Given the description of an element on the screen output the (x, y) to click on. 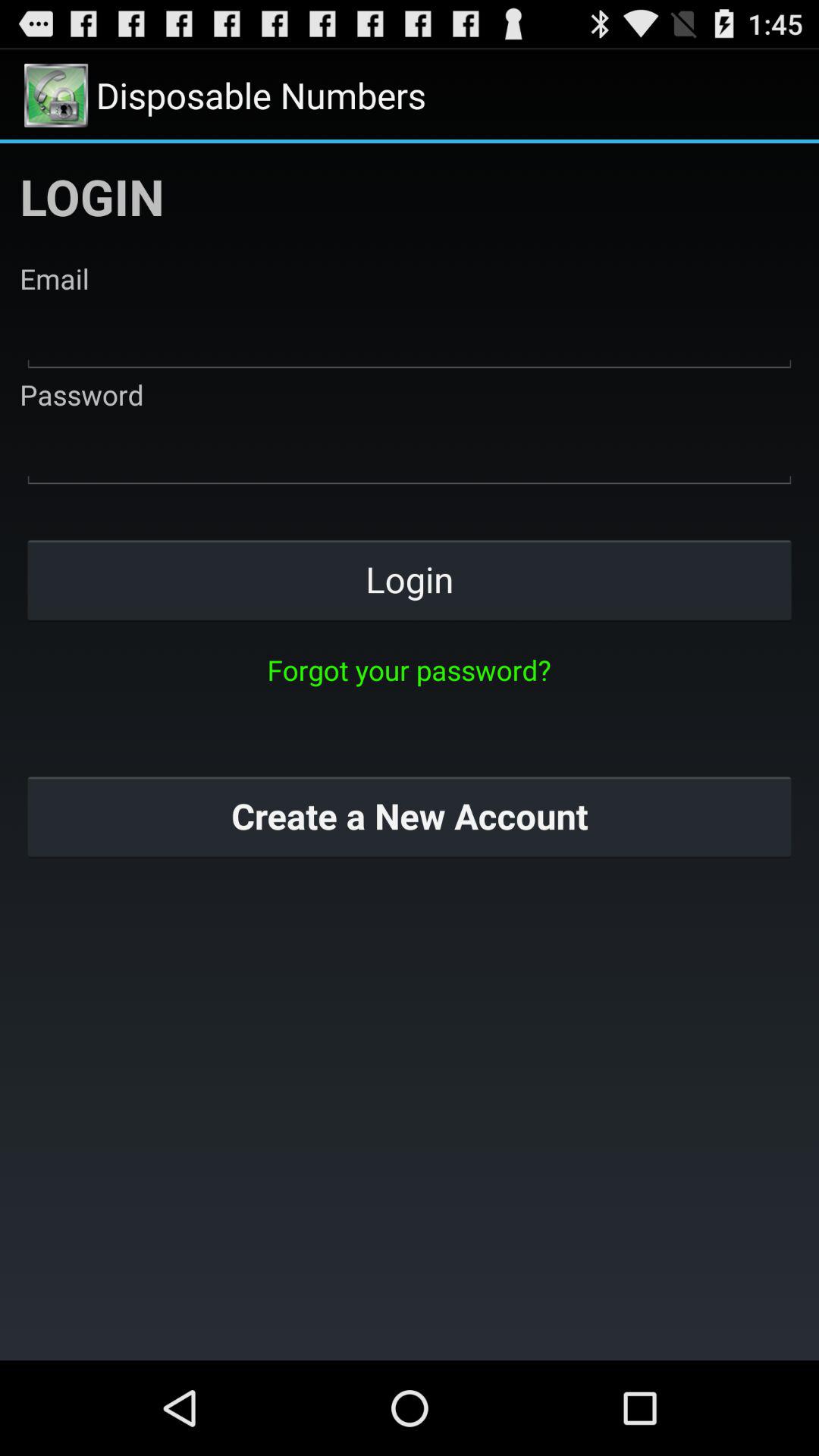
email field (409, 336)
